Given the description of an element on the screen output the (x, y) to click on. 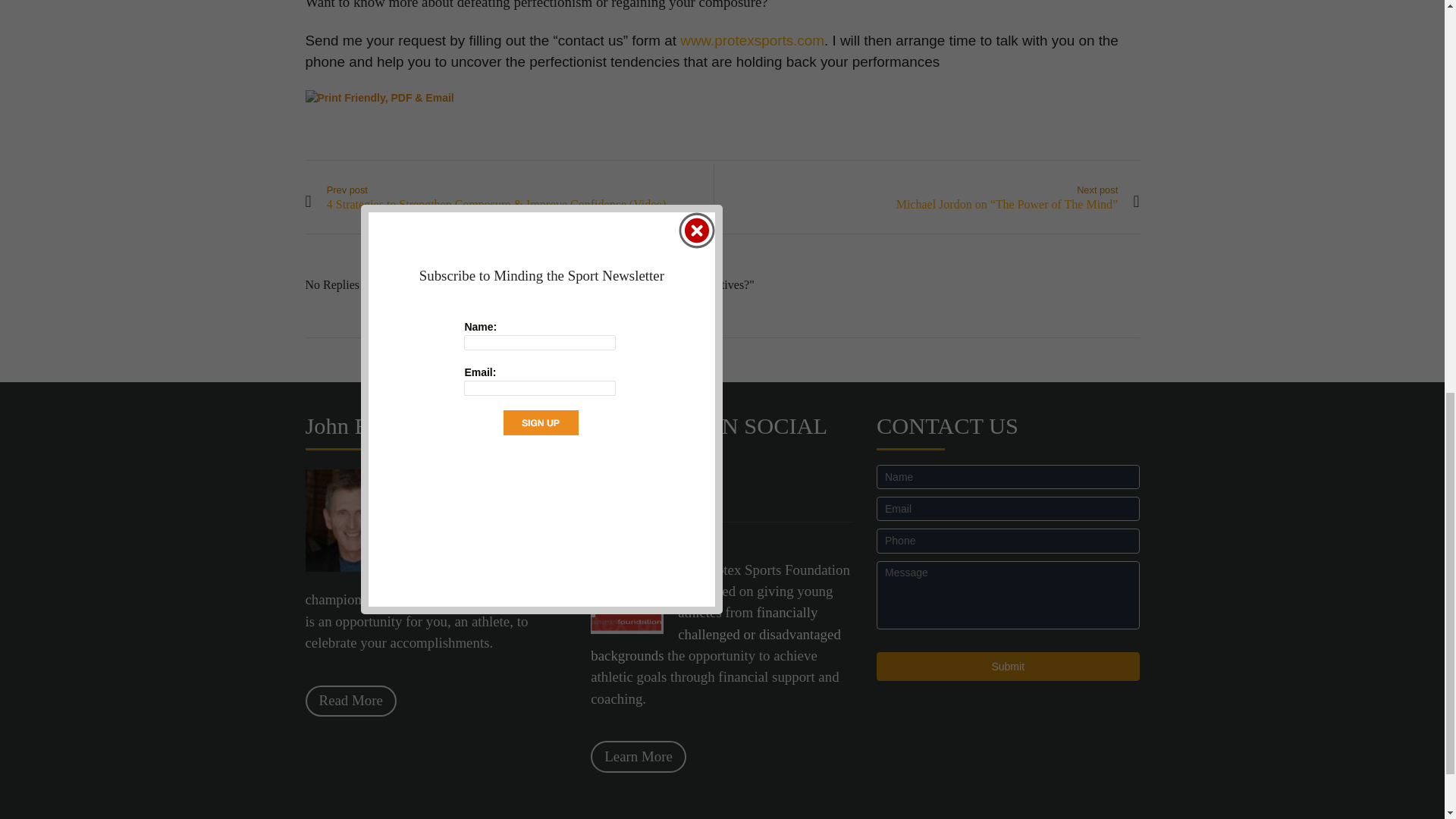
Learn More (638, 757)
Read More (350, 701)
Submit (1008, 665)
Submit (1008, 665)
www.protexsports.com (751, 40)
